Given the description of an element on the screen output the (x, y) to click on. 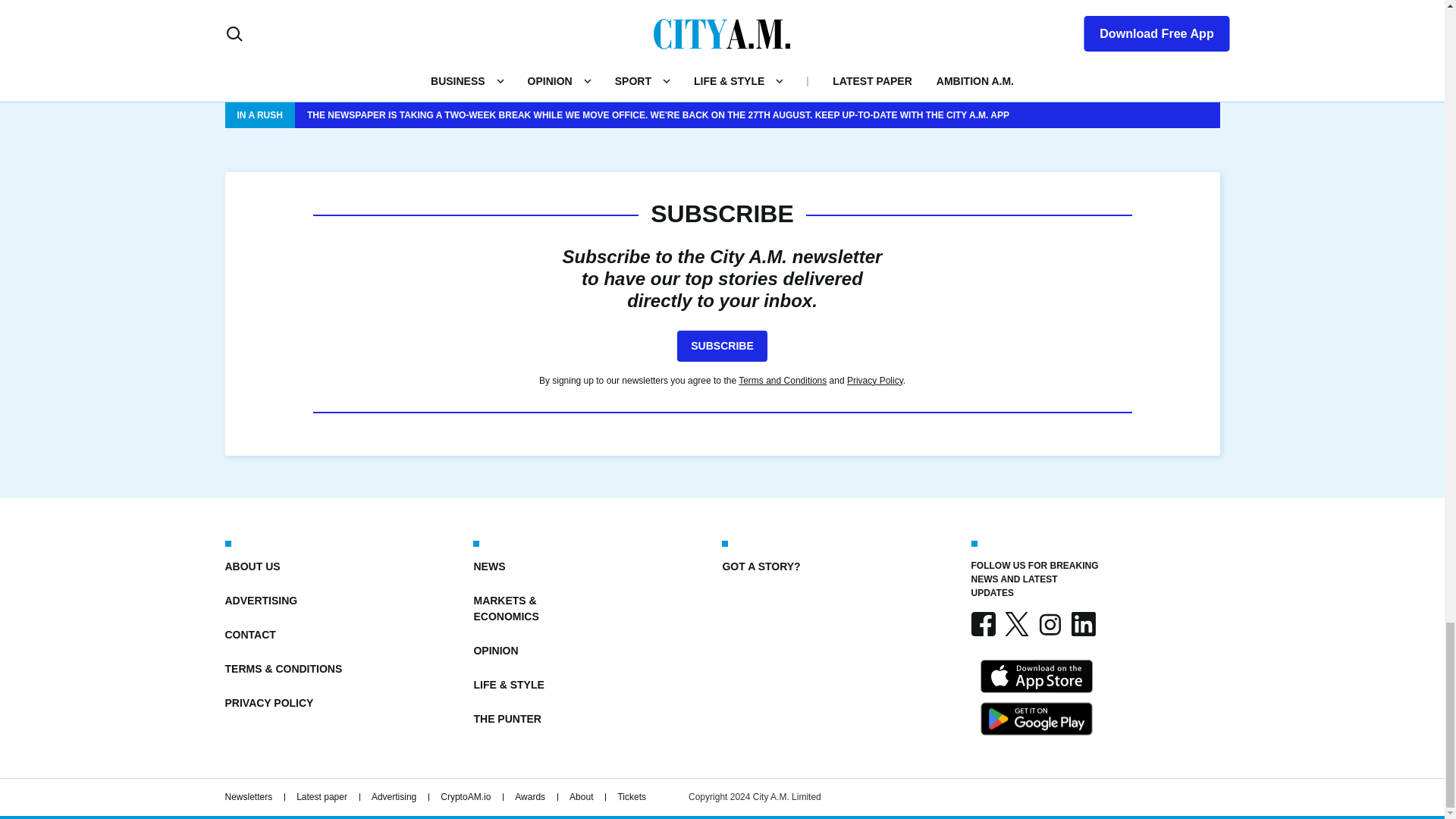
INSTAGRAM (1048, 623)
X (1015, 623)
FACEBOOK (982, 623)
LINKEDIN (1082, 623)
